Given the description of an element on the screen output the (x, y) to click on. 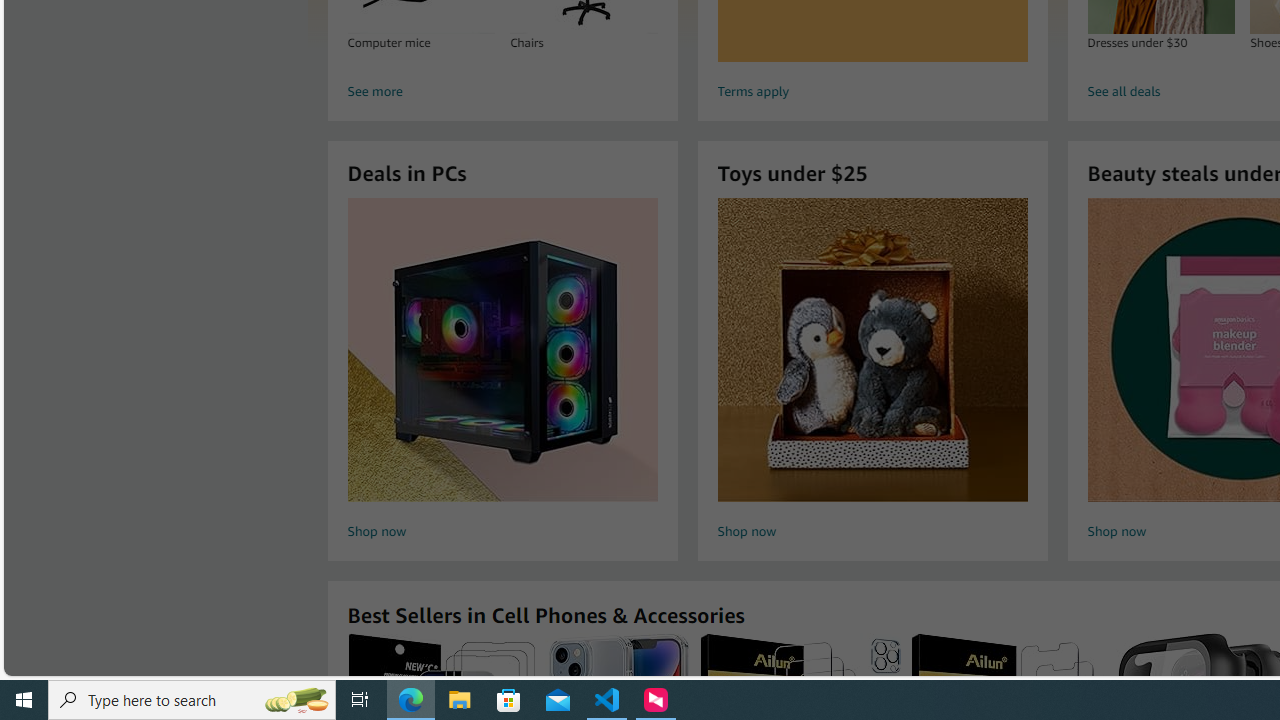
Toys under $25 Shop now (872, 371)
Deals in PCs Shop now (502, 371)
Deals in PCs (502, 349)
Toys under $25 (872, 349)
